Given the description of an element on the screen output the (x, y) to click on. 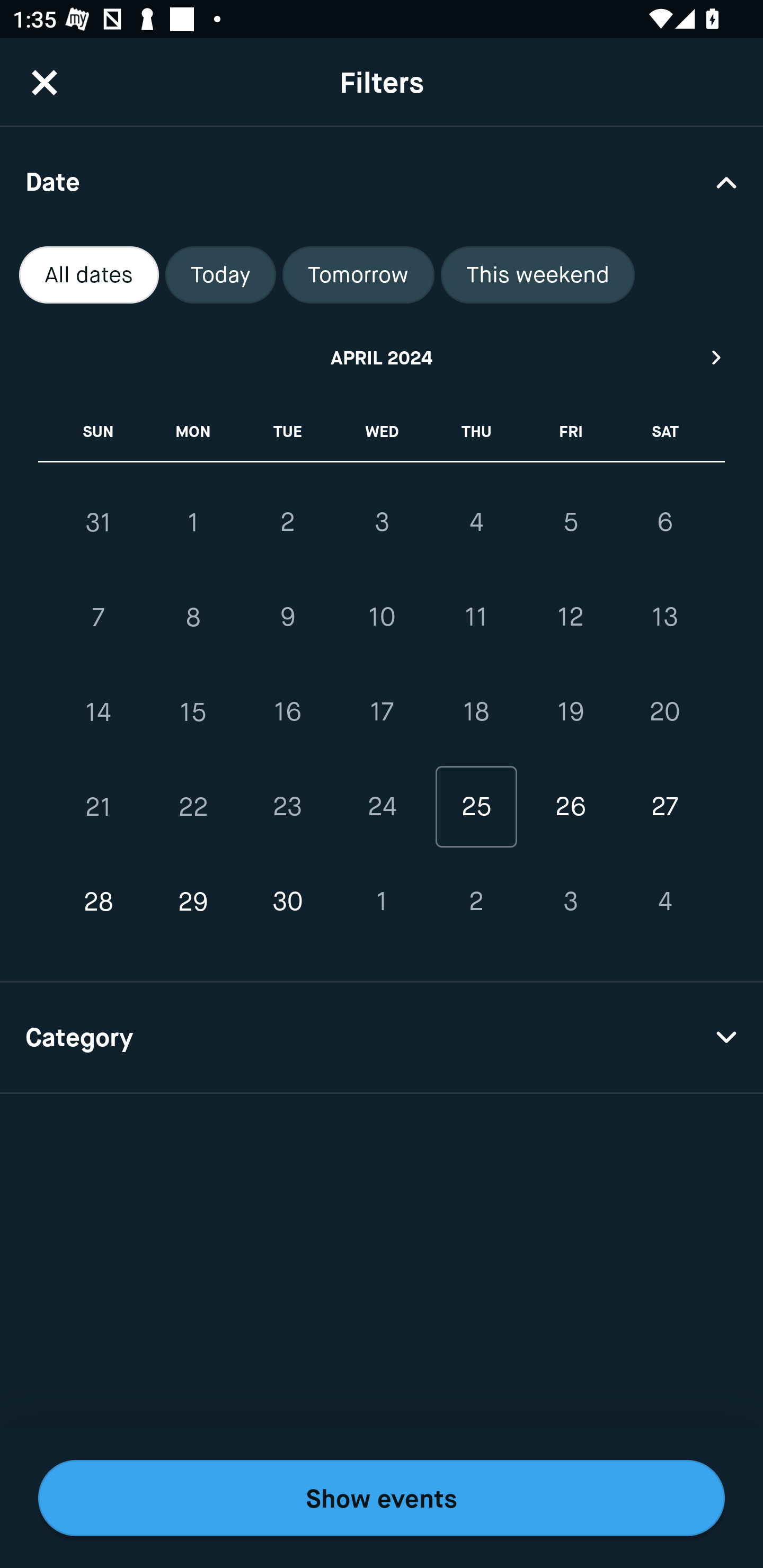
CloseButton (44, 82)
Date Drop Down Arrow (381, 181)
All dates (88, 274)
Today (220, 274)
Tomorrow (358, 274)
This weekend (537, 274)
Next (717, 357)
31 (98, 522)
1 (192, 522)
2 (287, 522)
3 (381, 522)
4 (475, 522)
5 (570, 522)
6 (664, 522)
7 (98, 617)
8 (192, 617)
9 (287, 617)
10 (381, 617)
11 (475, 617)
12 (570, 617)
13 (664, 617)
14 (98, 711)
15 (192, 711)
16 (287, 711)
17 (381, 711)
18 (475, 711)
19 (570, 711)
20 (664, 711)
21 (98, 806)
22 (192, 806)
23 (287, 806)
24 (381, 806)
25 (475, 806)
26 (570, 806)
27 (664, 806)
28 (98, 901)
29 (192, 901)
30 (287, 901)
1 (381, 901)
2 (475, 901)
3 (570, 901)
4 (664, 901)
Category Drop Down Arrow (381, 1038)
Show events (381, 1497)
